Given the description of an element on the screen output the (x, y) to click on. 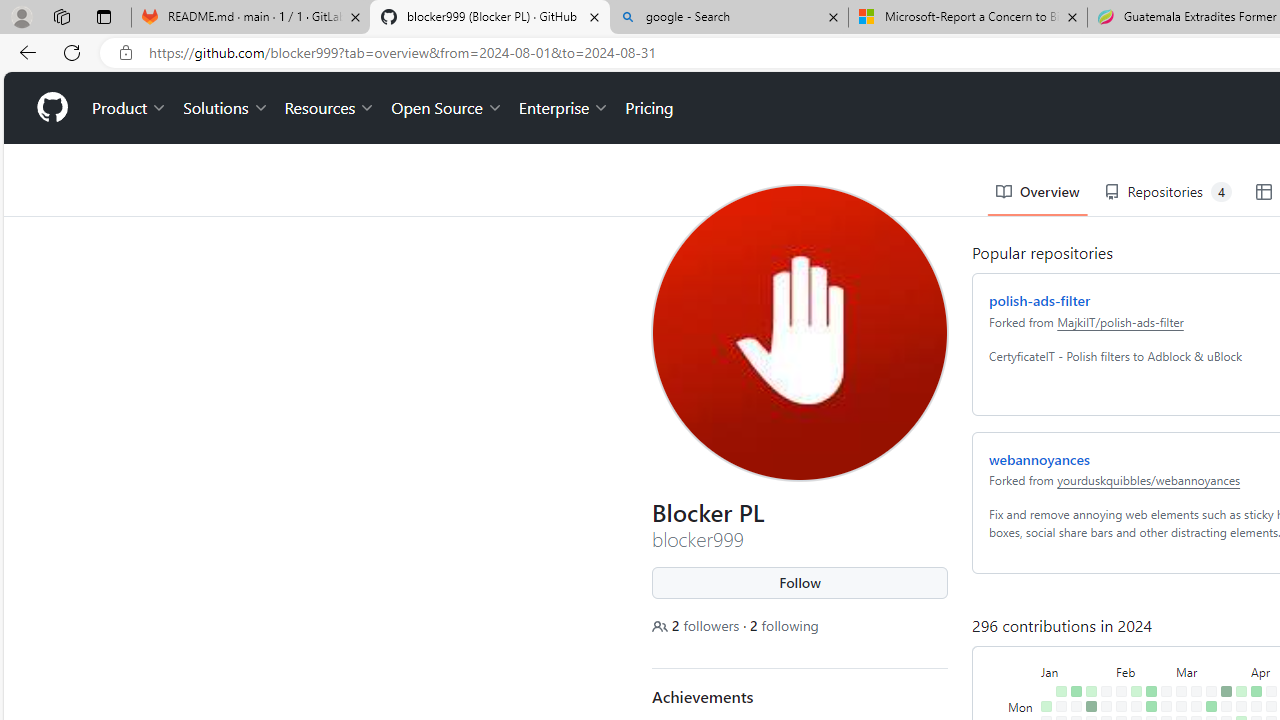
No contributions on January 2nd. (1042, 649)
Achievements (698, 624)
Enterprise (559, 35)
View blocker999's full-sized avatar (795, 260)
No contributions on April 8th. (1252, 634)
5 contributions on February 18th. (1147, 619)
No contributions on March 4th. (1177, 634)
Enterprise (559, 35)
No contributions on March 10th. (1192, 619)
polish-ads-filter (1035, 228)
No contributions on March 26th. (1222, 649)
Achievement: Quickdraw (679, 679)
